Given the description of an element on the screen output the (x, y) to click on. 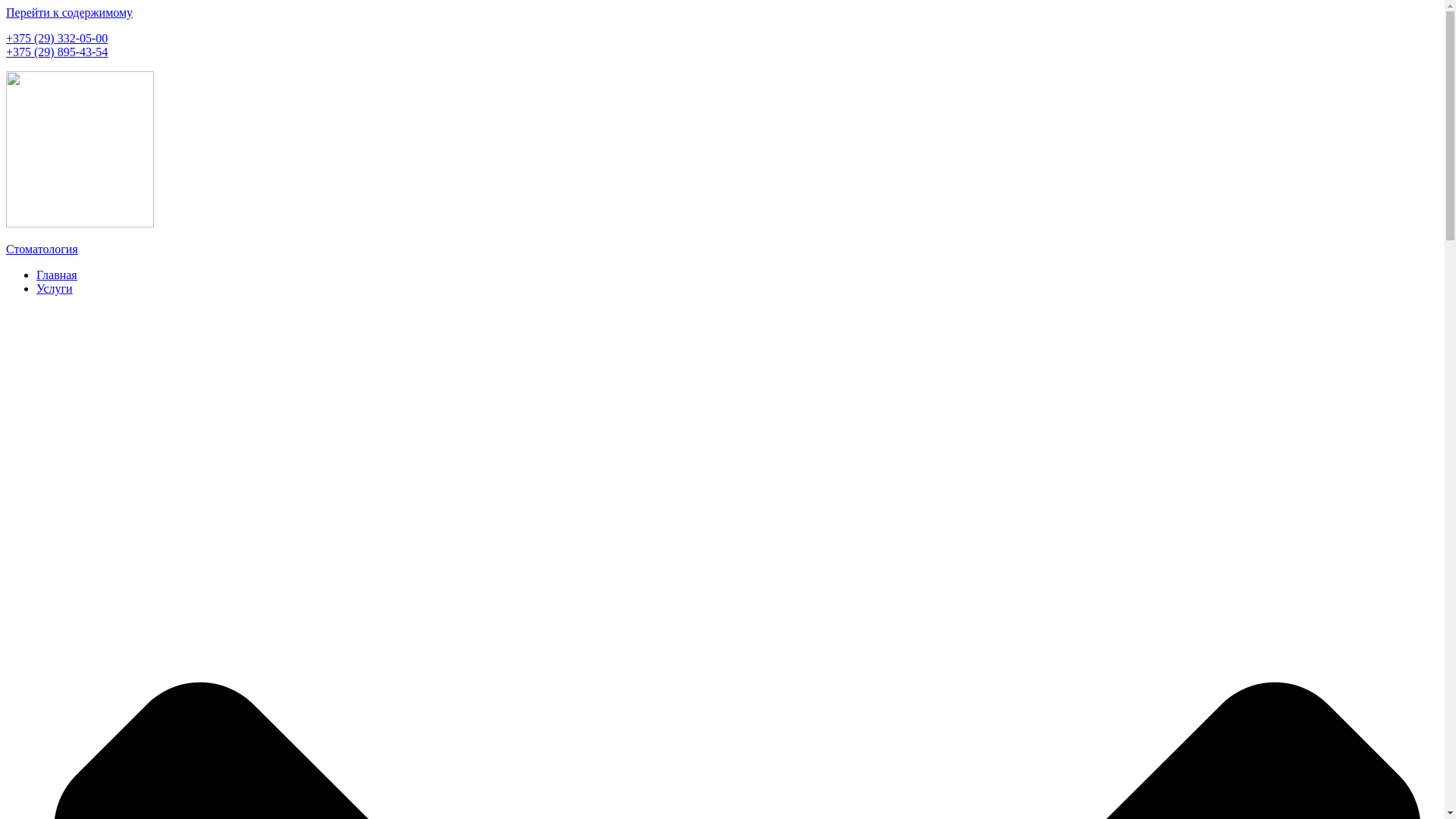
+375 (29) 895-43-54 Element type: text (56, 51)
+375 (29) 332-05-00 Element type: text (56, 37)
